Given the description of an element on the screen output the (x, y) to click on. 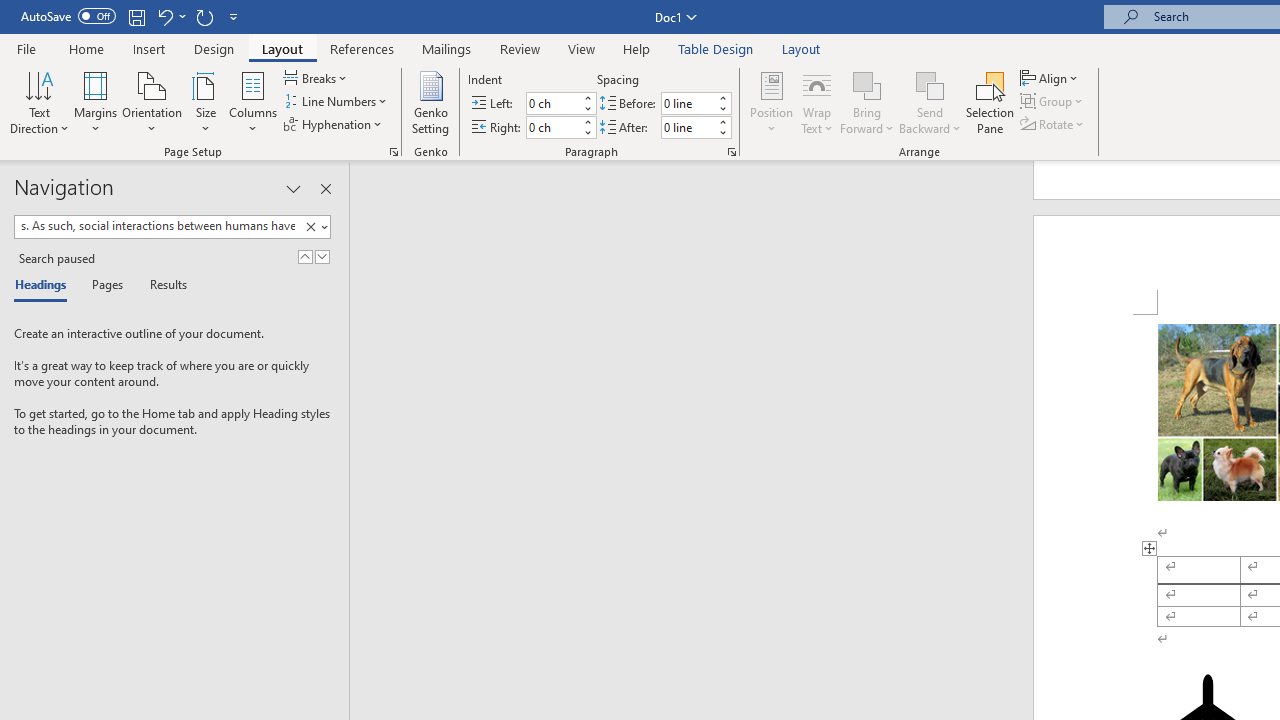
Hyphenation (334, 124)
Send Backward (930, 84)
Indent Left (552, 103)
Indent Right (552, 127)
Size (205, 102)
Undo Style (164, 15)
More (722, 121)
Clear (314, 227)
Text Direction (39, 102)
